Given the description of an element on the screen output the (x, y) to click on. 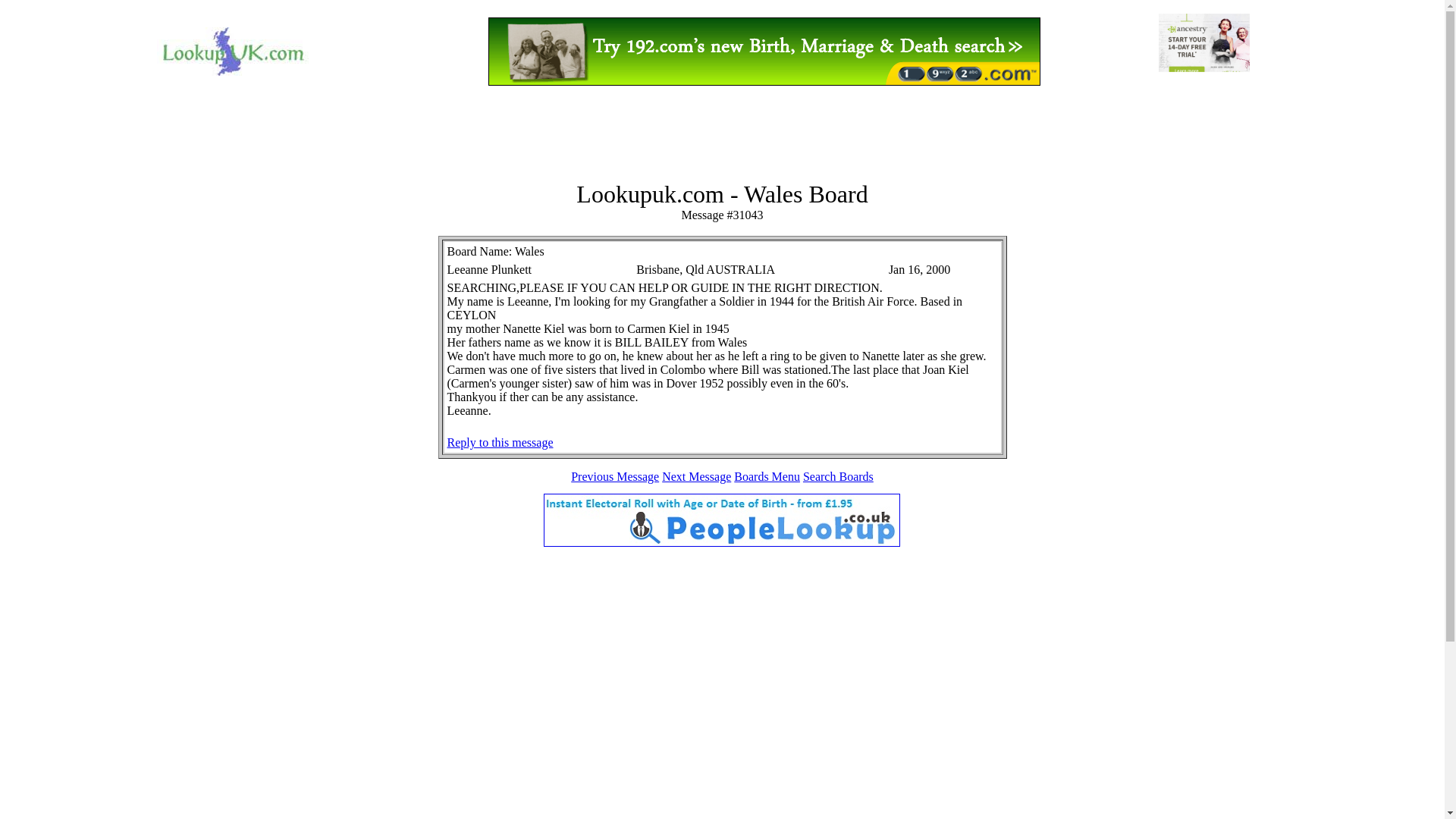
Next Message (696, 476)
Advertisement (721, 134)
Previous Message (614, 476)
Reply to this message (499, 441)
Search Boards (838, 476)
Boards Menu (766, 476)
